Given the description of an element on the screen output the (x, y) to click on. 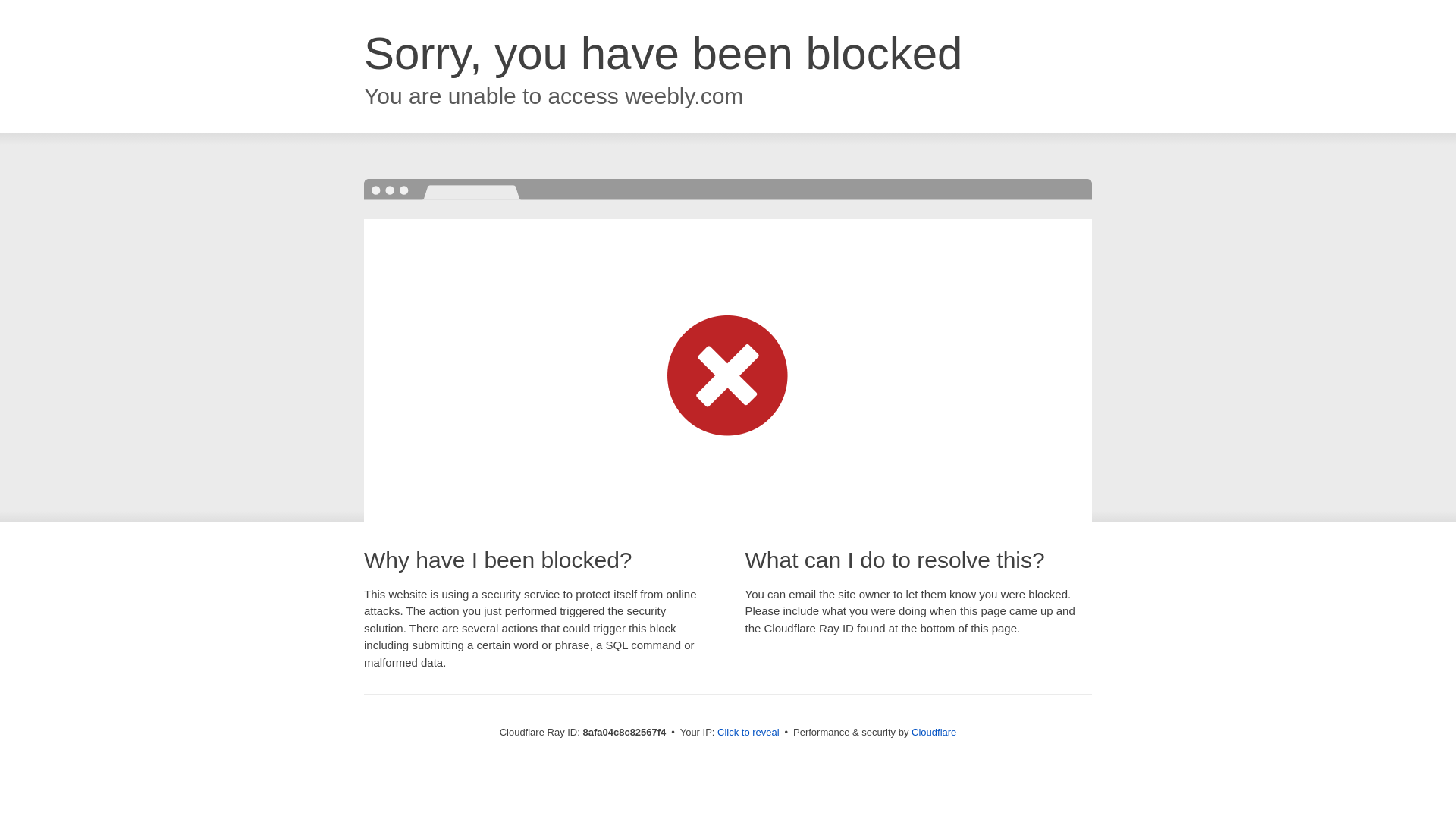
Cloudflare (933, 731)
Click to reveal (747, 732)
